Given the description of an element on the screen output the (x, y) to click on. 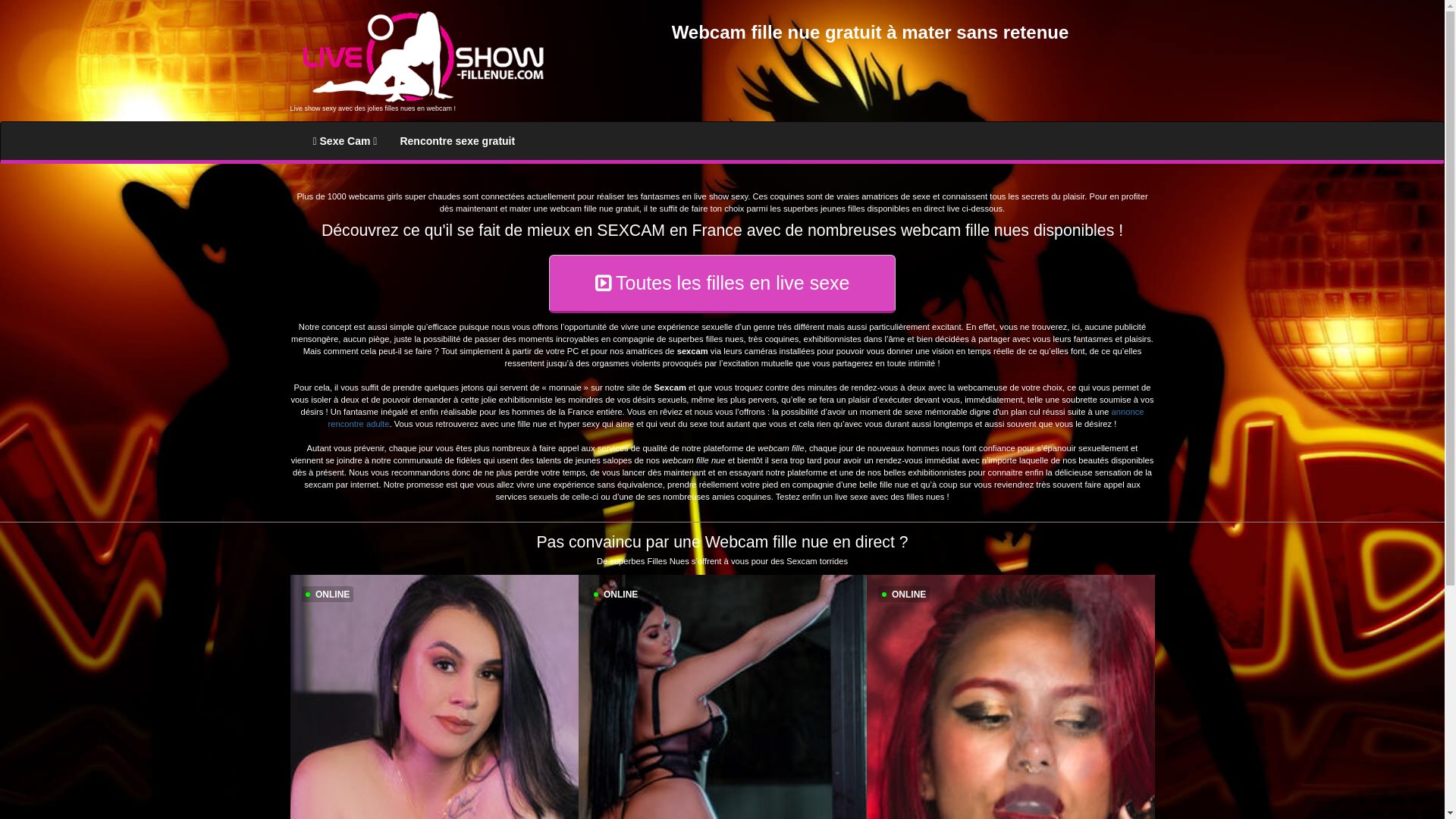
Toutes les filles en live sexe Element type: text (722, 283)
Rencontre sexe gratuit Element type: text (457, 141)
annonce rencontre adulte Element type: text (736, 417)
